Given the description of an element on the screen output the (x, y) to click on. 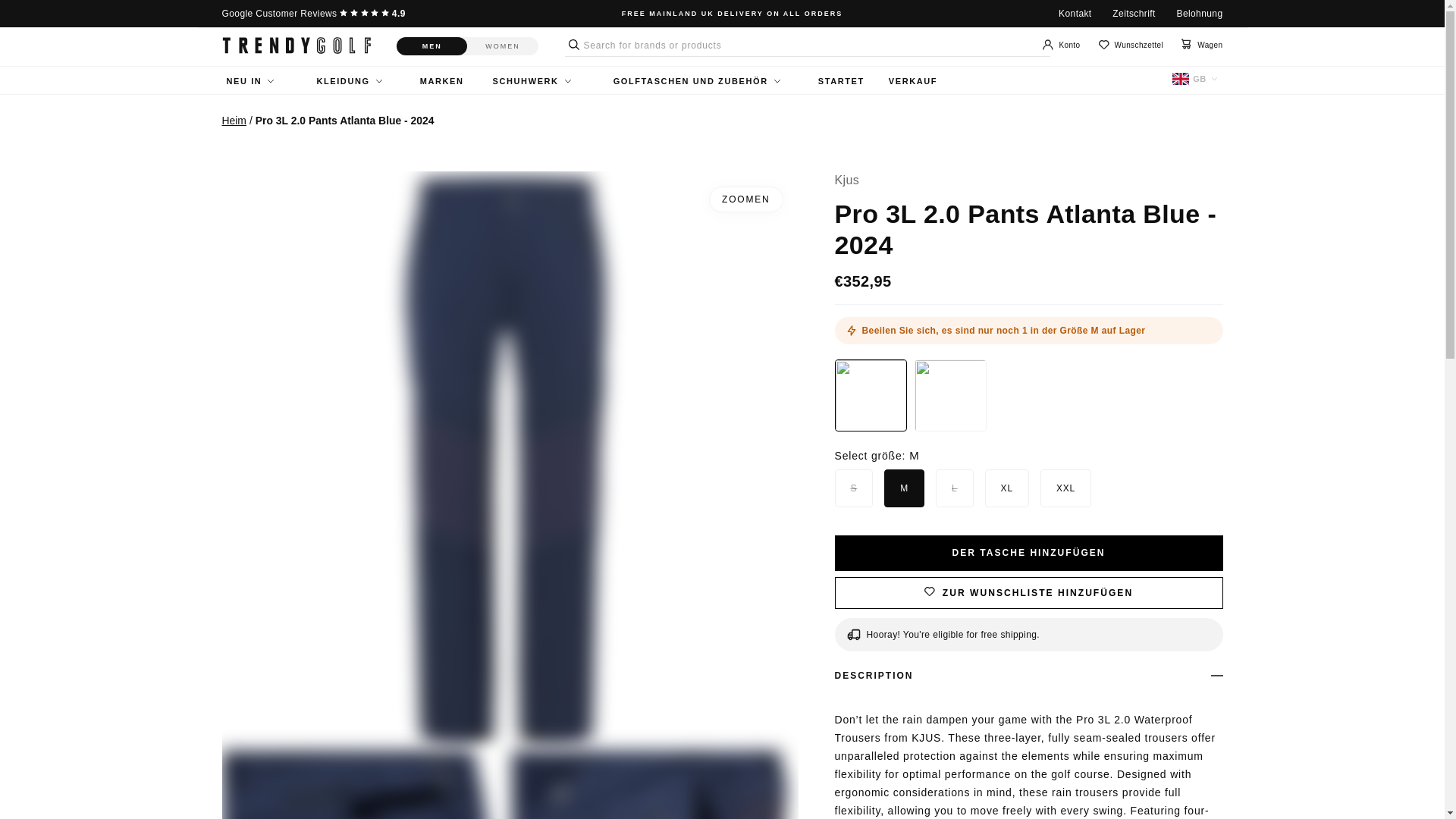
Wagen (1201, 44)
Google Customer Reviews 4.9 (312, 13)
L (940, 488)
XL (989, 488)
Zeitschrift (1133, 13)
TRENDYGOLF UK (295, 45)
Konto (1061, 45)
KLEIDUNG (348, 81)
XXL (1045, 488)
NEU IN (249, 81)
Wunschzettel (1131, 45)
WOMEN (502, 45)
Kontakt (1075, 13)
MEN (431, 45)
Belohnung (1199, 13)
